Given the description of an element on the screen output the (x, y) to click on. 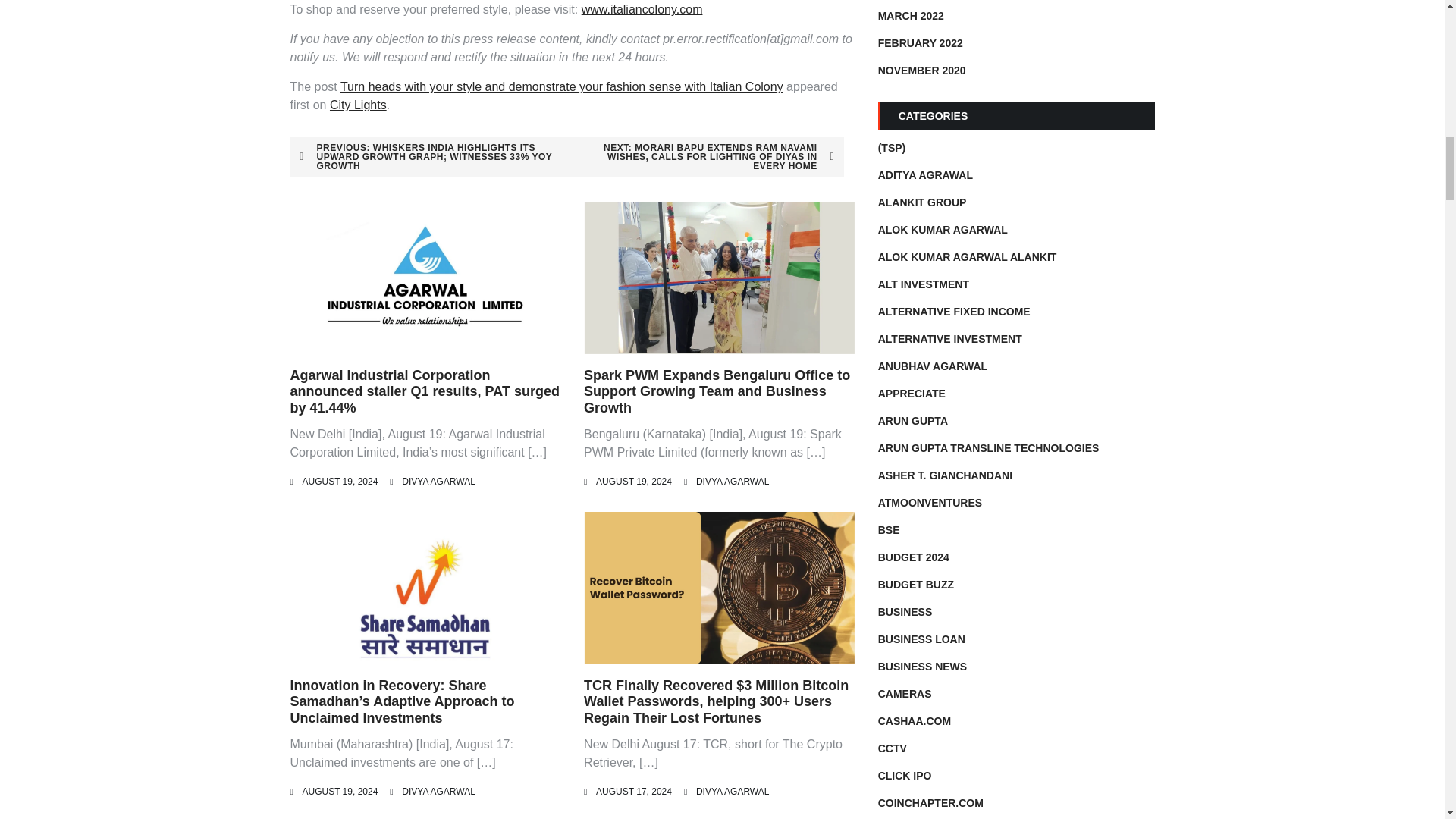
AUGUST 19, 2024 (633, 480)
DIVYA AGARWAL (437, 480)
DIVYA AGARWAL (731, 480)
DIVYA AGARWAL (437, 791)
DIVYA AGARWAL (731, 791)
AUGUST 19, 2024 (339, 480)
AUGUST 17, 2024 (633, 791)
City Lights (358, 104)
